Given the description of an element on the screen output the (x, y) to click on. 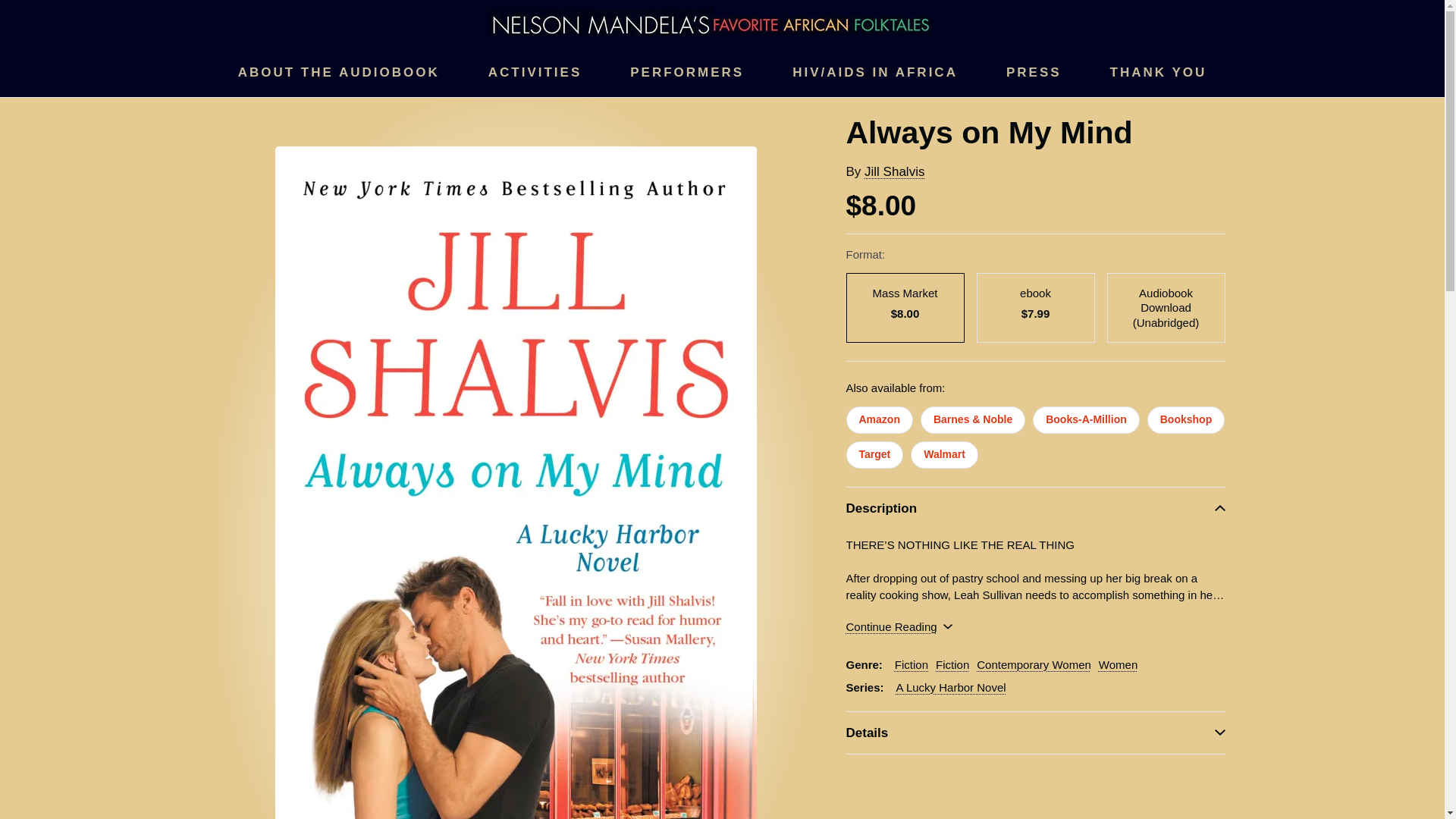
Contemporary Women (1033, 664)
ACTIVITIES (534, 72)
Fiction (952, 664)
Walmart (944, 454)
PERFORMERS (687, 72)
Women (1118, 664)
Details (1035, 732)
Target (874, 454)
Amazon (878, 420)
Books-A-Million (1086, 420)
